Given the description of an element on the screen output the (x, y) to click on. 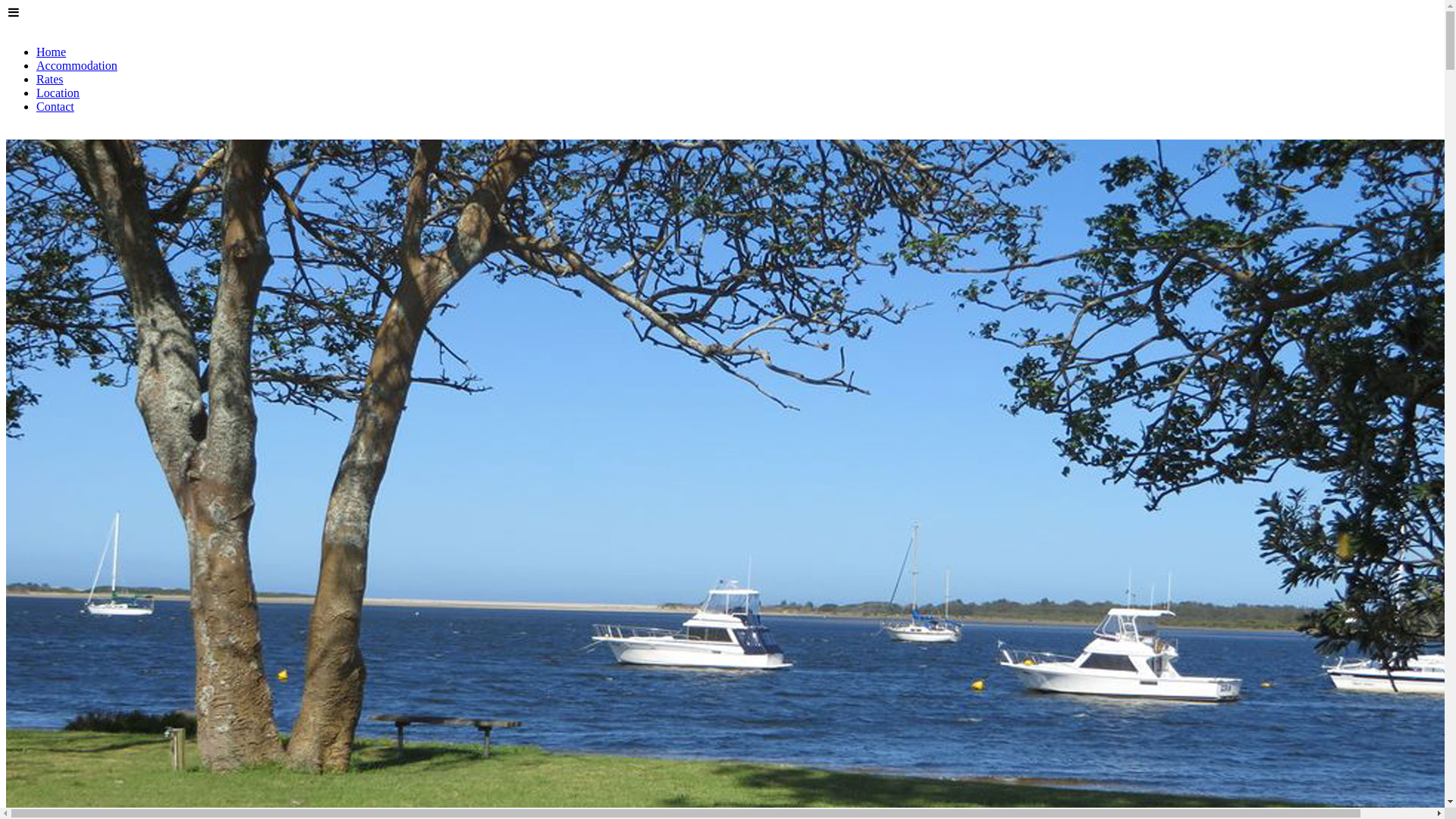
Contact Element type: text (55, 106)
Accommodation Element type: text (76, 65)
Rates Element type: text (49, 78)
Location Element type: text (57, 92)
Home Element type: text (50, 51)
